Given the description of an element on the screen output the (x, y) to click on. 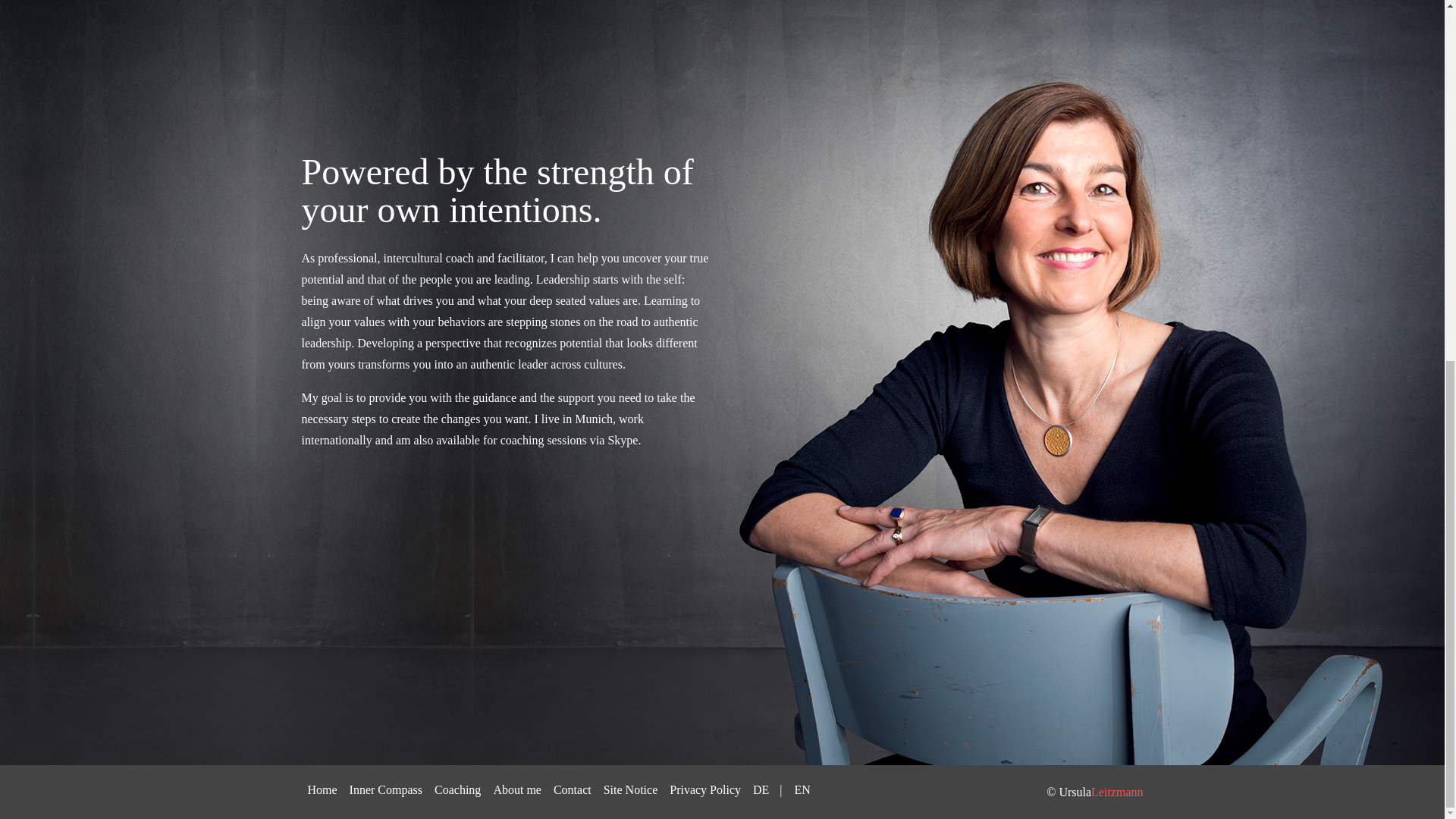
Inner Compass (385, 149)
Site Notice (629, 149)
Contact (571, 149)
Coaching (457, 149)
EN (802, 149)
Privacy Policy (704, 149)
About me (516, 149)
